Given the description of an element on the screen output the (x, y) to click on. 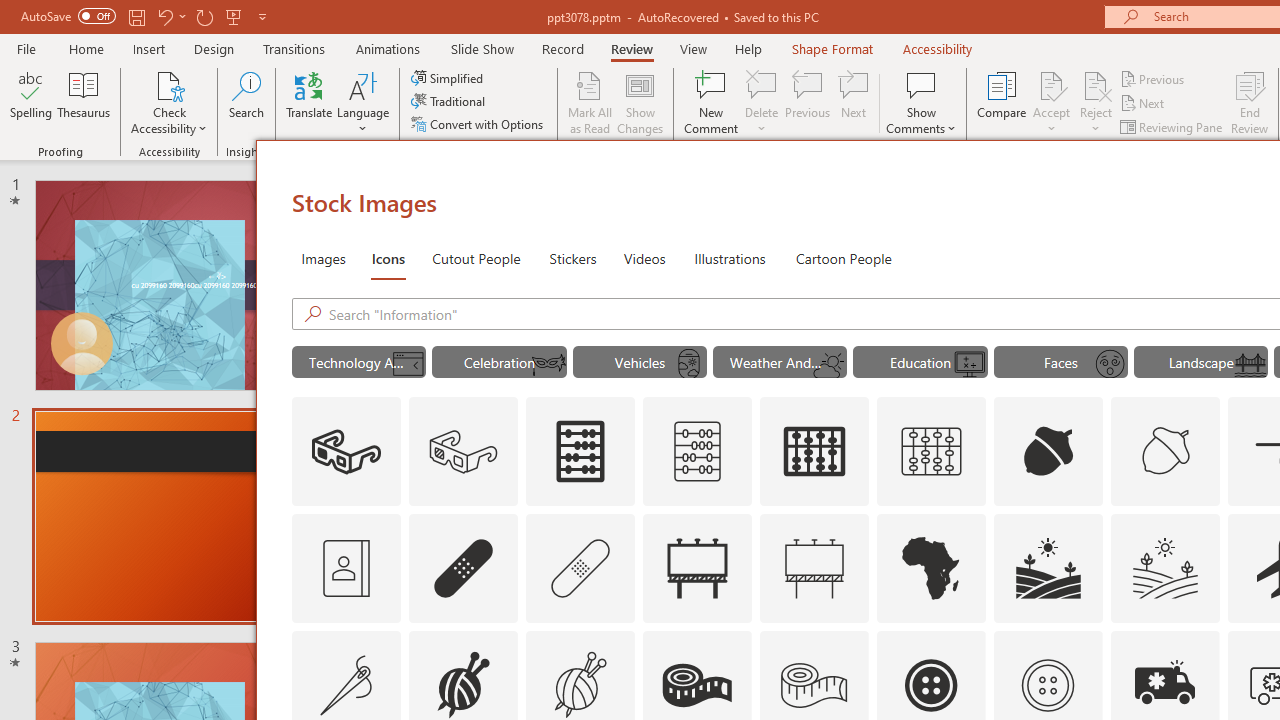
"Landscape" Icons. (1201, 362)
Cartoon People (843, 258)
AutomationID: Icons_BridgeScene_M (1249, 364)
AutomationID: Icons (1047, 685)
"Education" Icons. (920, 362)
